Given the description of an element on the screen output the (x, y) to click on. 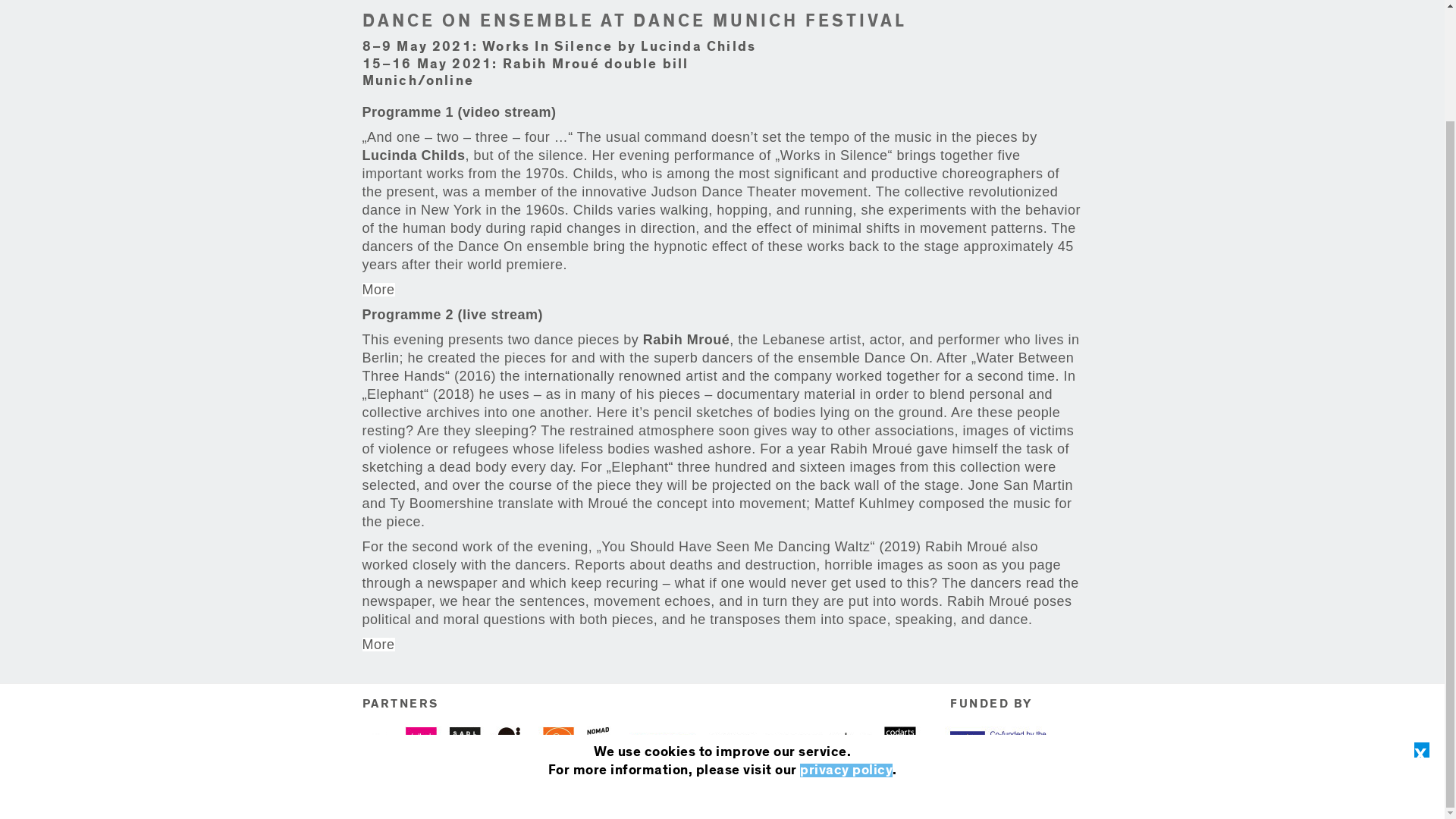
ACCEPT (720, 667)
More (378, 289)
privacy policy (845, 639)
Privacy policy (689, 794)
More (378, 644)
Legal notice (607, 794)
